Given the description of an element on the screen output the (x, y) to click on. 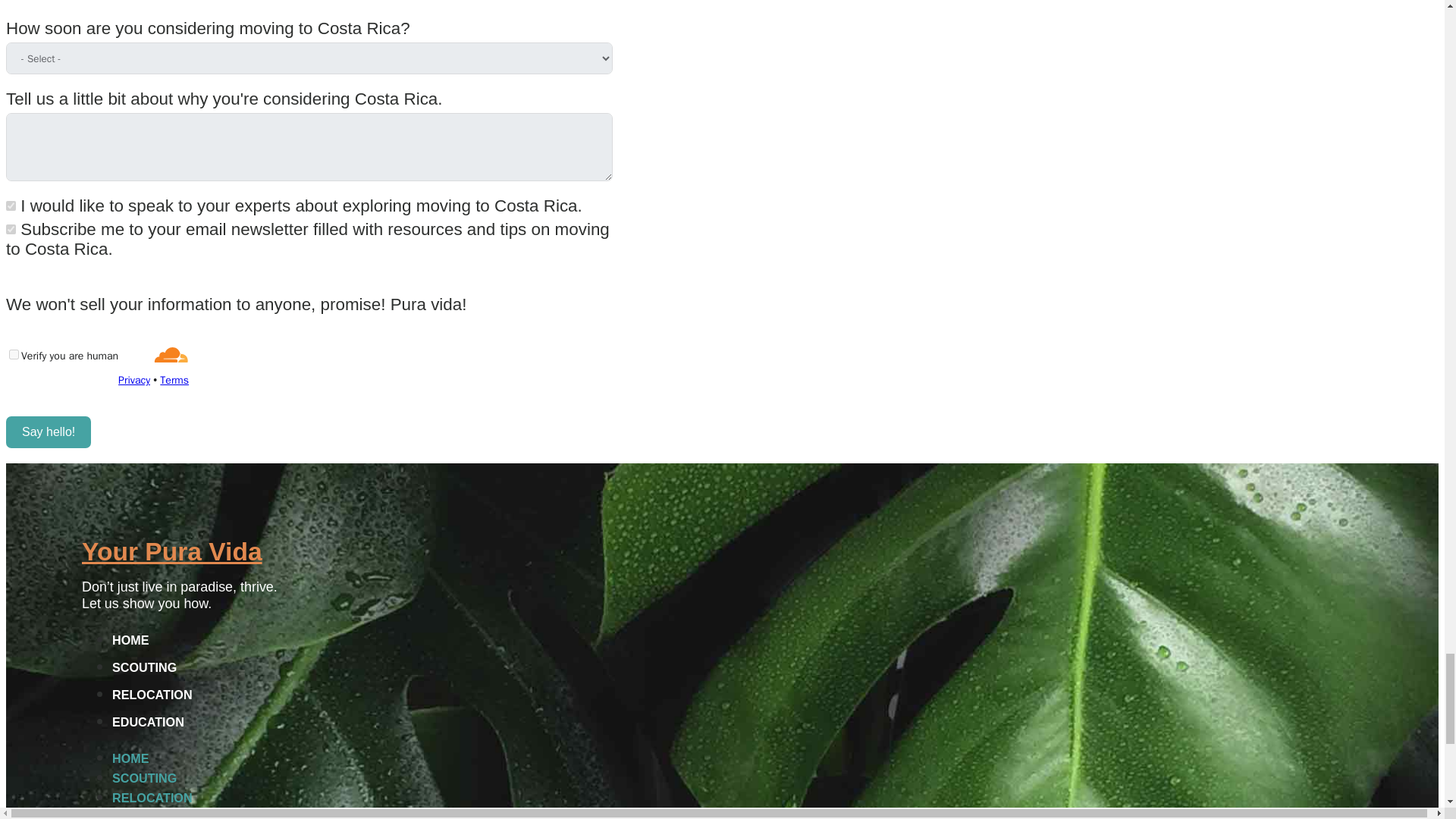
Your Pura Vida (171, 551)
EDUCATION (148, 721)
HOME (130, 757)
SCOUTING (144, 777)
RELOCATION (152, 694)
SCOUTING (144, 667)
RELOCATION (152, 797)
Say hello! (47, 431)
EDUCATION (148, 814)
HOME (130, 639)
